Given the description of an element on the screen output the (x, y) to click on. 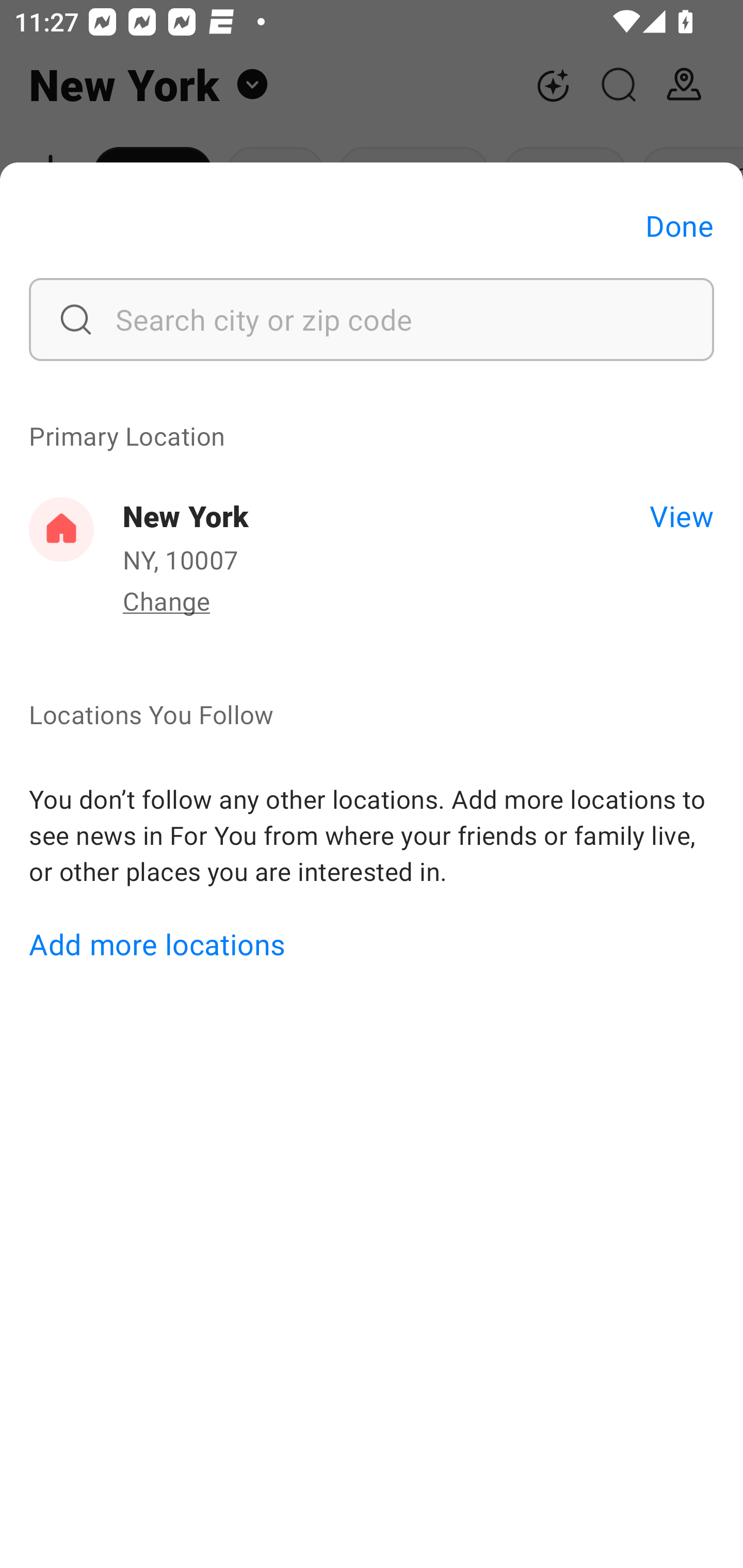
Done (679, 225)
Search city or zip code (371, 318)
View (681, 514)
Change (166, 600)
